Given the description of an element on the screen output the (x, y) to click on. 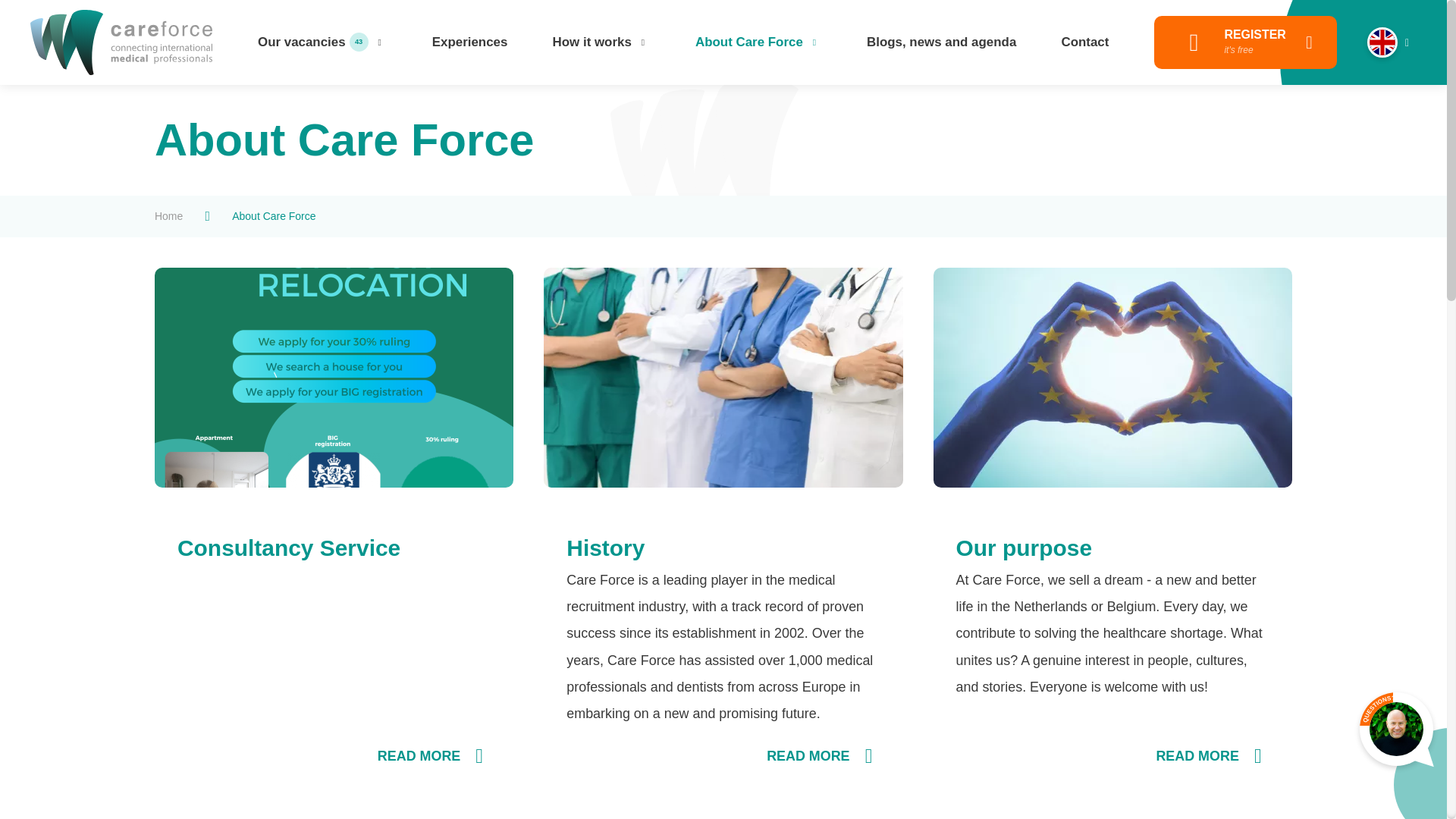
Experiences (470, 42)
Blogs, news and agenda (941, 42)
Home (1245, 41)
   QUESTIONS? (168, 216)
Contact (1376, 708)
About Care Force (1084, 42)
How it works (758, 42)
